Given the description of an element on the screen output the (x, y) to click on. 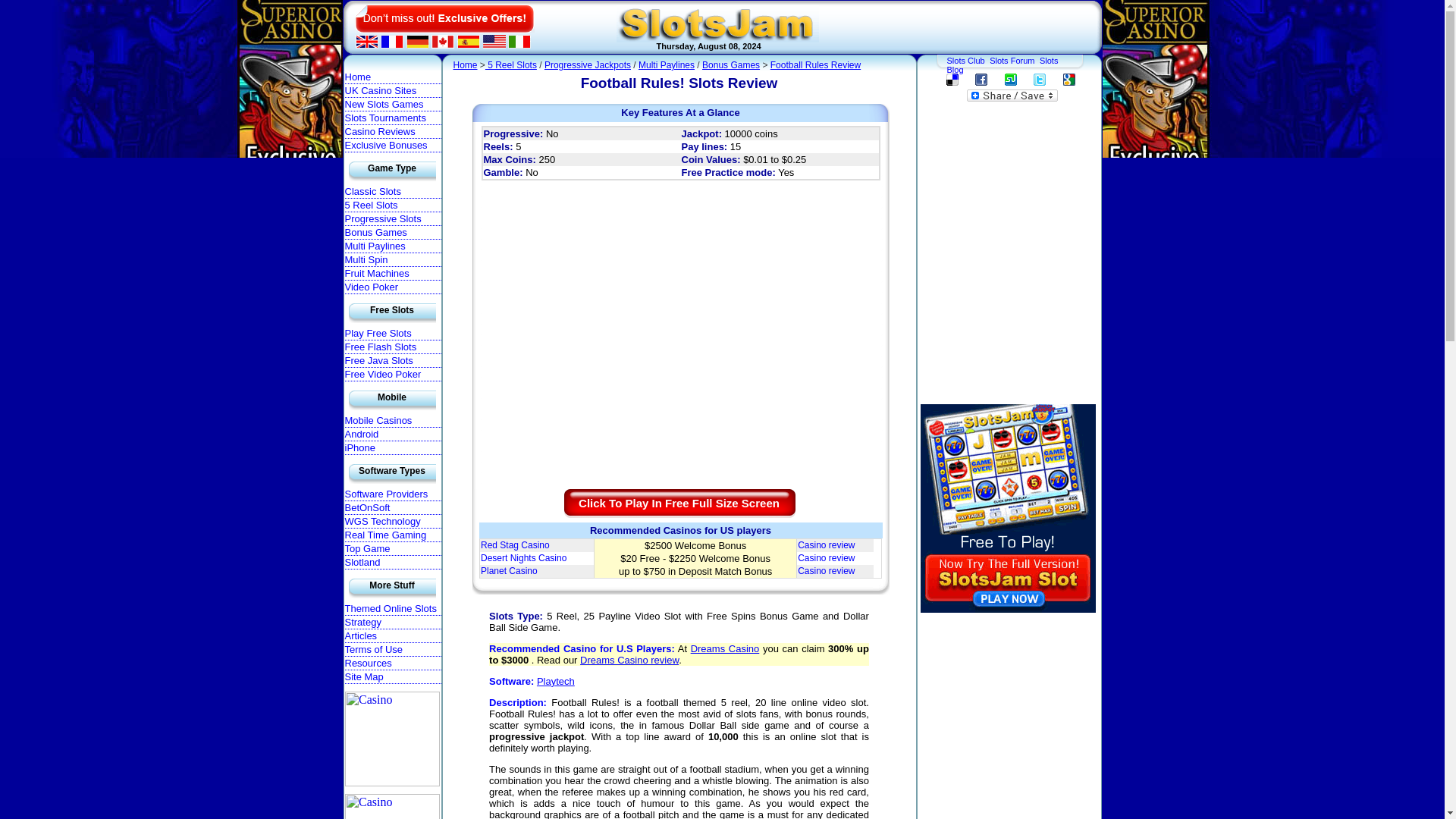
Articles (392, 635)
Top Game (392, 549)
UK Casino Sites (392, 90)
Real Time Gaming (392, 535)
Slotland (392, 562)
Casino Reviews (392, 131)
Progressive Slots (392, 219)
WGS Technology (392, 521)
Video Poker (392, 287)
Free Java Slots (392, 360)
New Slots Games (392, 104)
Android (392, 434)
Mobile Casinos (392, 420)
Home (392, 77)
iPhone (392, 448)
